Given the description of an element on the screen output the (x, y) to click on. 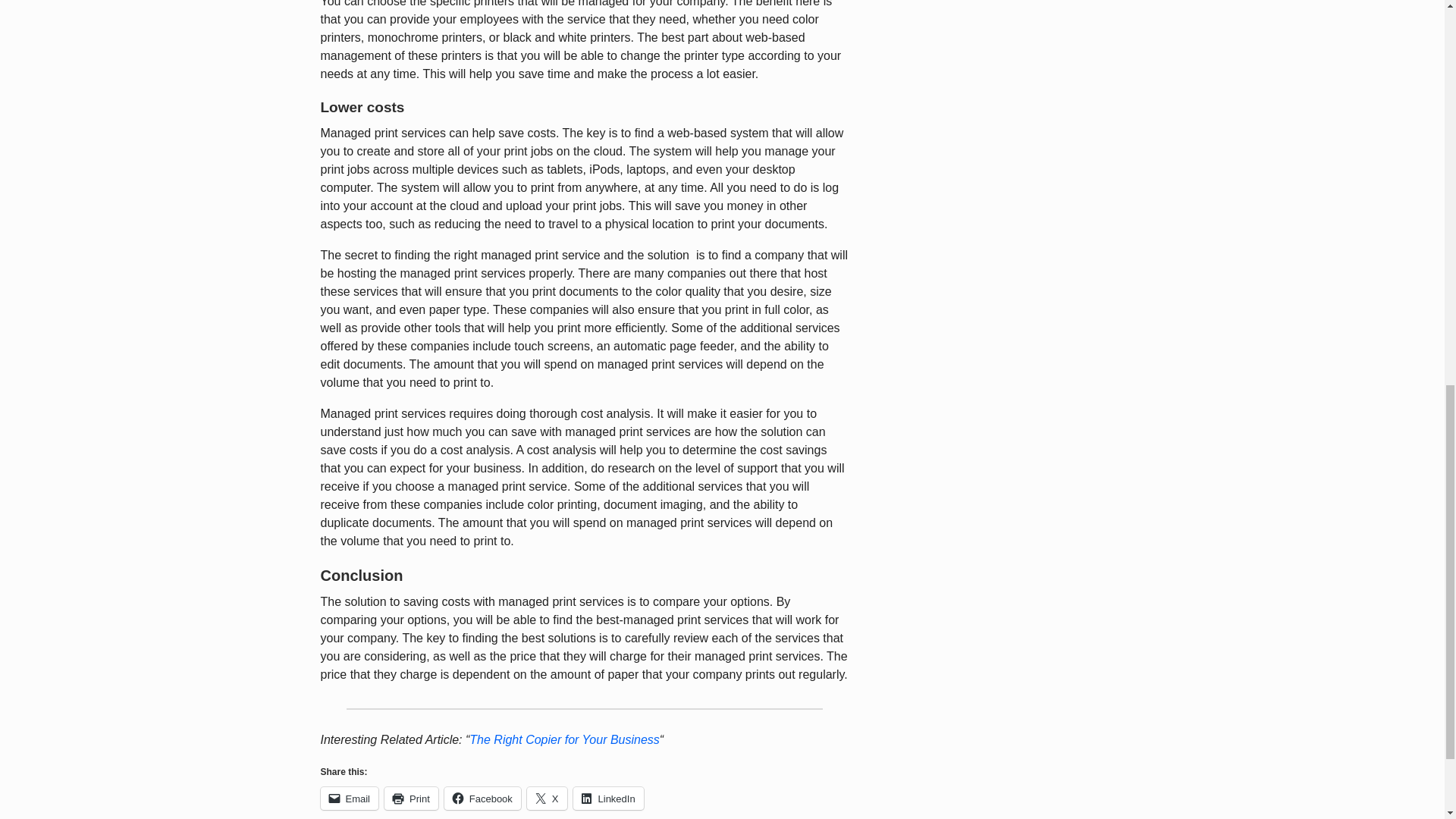
LinkedIn (608, 798)
Click to share on Facebook (482, 798)
Print (411, 798)
Click to print (411, 798)
Click to email a link to a friend (349, 798)
Facebook (482, 798)
The Right Copier for Your Business (563, 739)
Click to share on LinkedIn (608, 798)
X (547, 798)
Click to share on X (547, 798)
Email (349, 798)
